Given the description of an element on the screen output the (x, y) to click on. 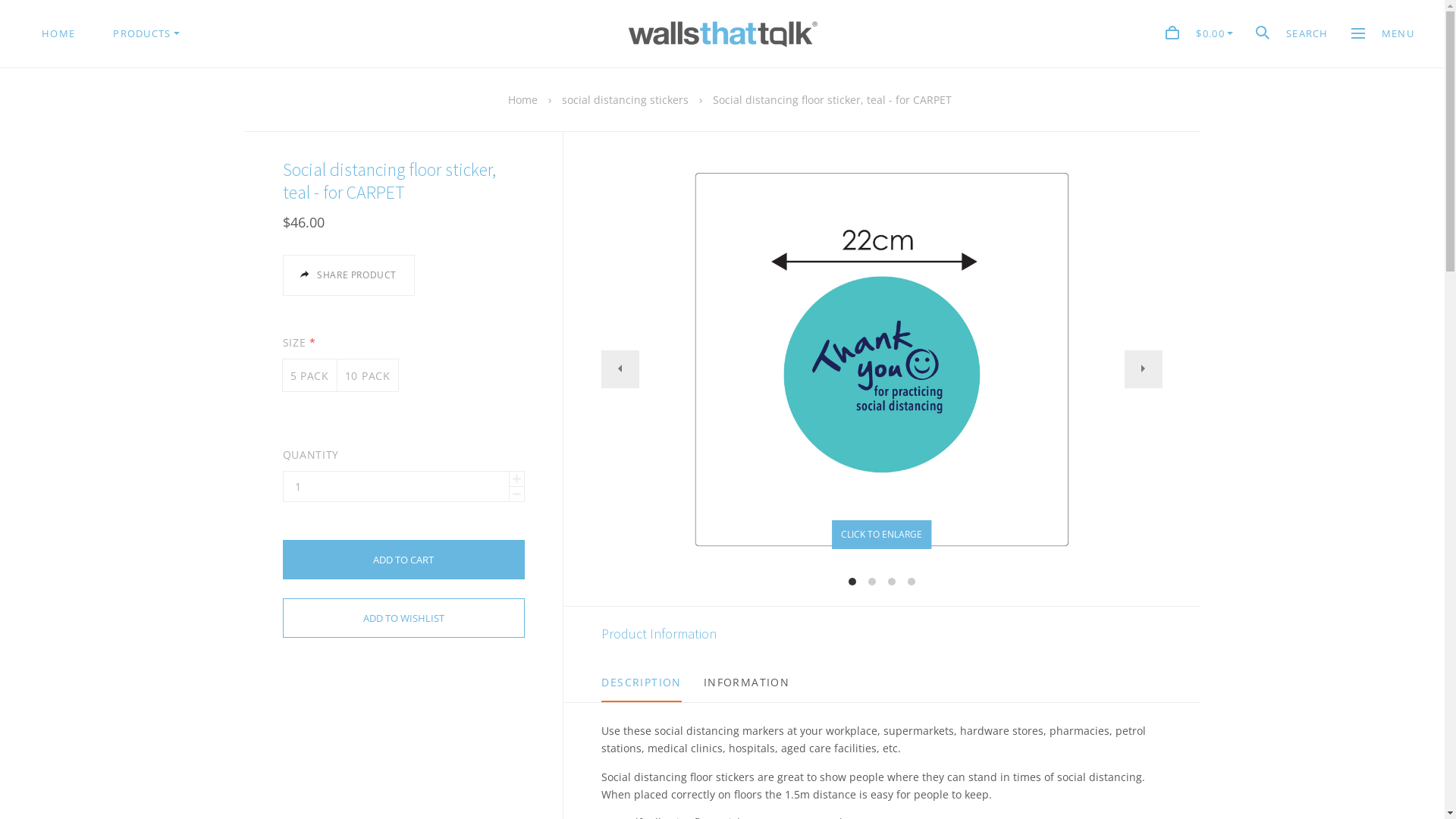
ADD TO CART Element type: text (403, 559)
Add to wishlist Element type: text (403, 617)
Home Element type: text (522, 99)
DESCRIPTION Element type: text (640, 682)
INFORMATION Element type: text (746, 682)
$0.00 Element type: text (1199, 34)
MENU Element type: text (1382, 33)
HOME Element type: text (58, 33)
PRODUCTS Element type: text (145, 33)
Social distancing floor sticker, teal - for CARPET Element type: text (831, 99)
SEARCH Element type: text (1291, 34)
social distancing stickers Element type: text (624, 99)
CLICK TO ENLARGE Element type: text (881, 534)
SHARE PRODUCT Element type: text (348, 274)
